Given the description of an element on the screen output the (x, y) to click on. 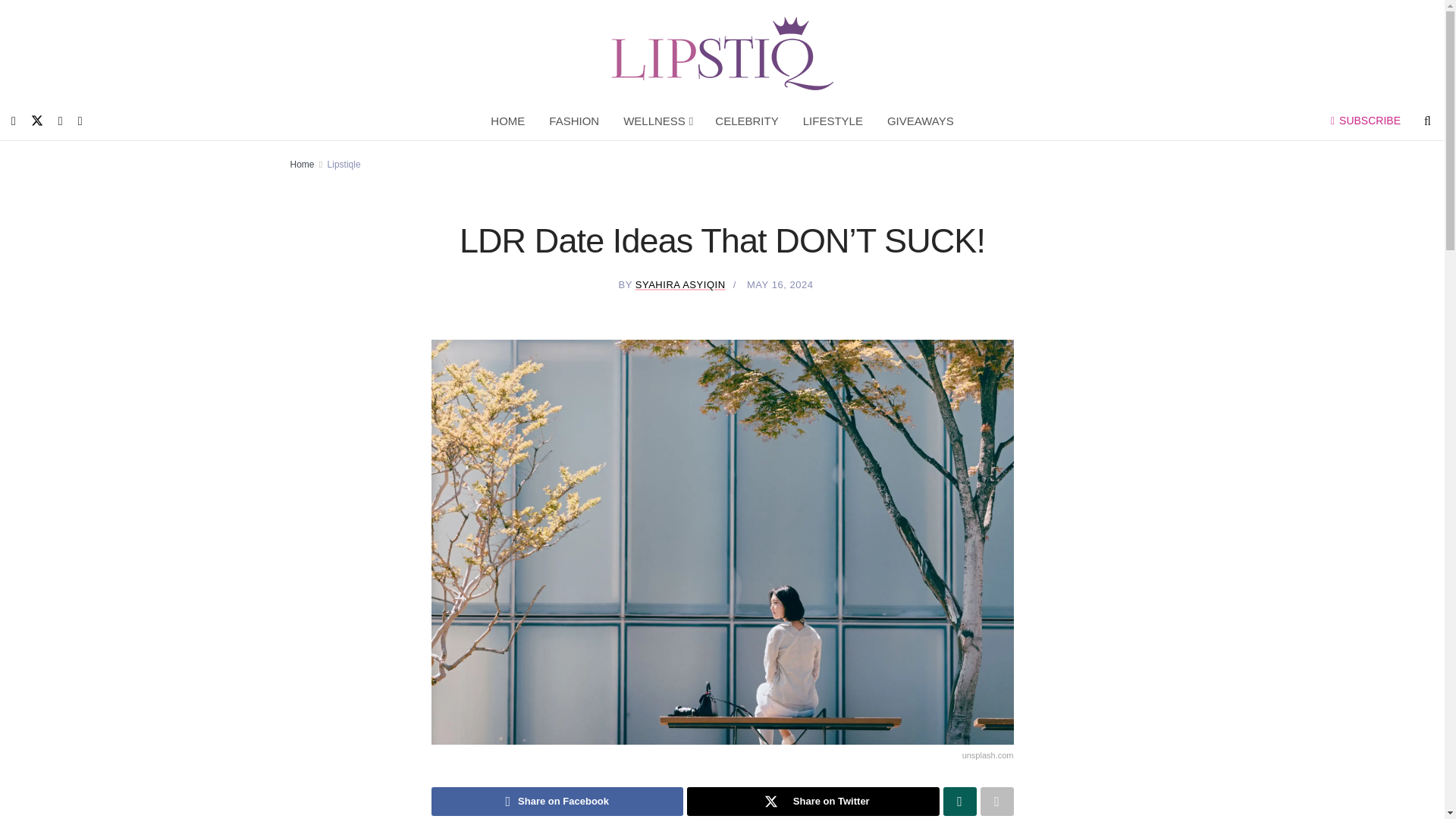
HOME (508, 121)
CELEBRITY (746, 121)
FASHION (574, 121)
Lipstiqle (344, 163)
MAY 16, 2024 (779, 284)
Home (301, 163)
Share on Facebook (556, 801)
SYAHIRA ASYIQIN (679, 284)
WELLNESS (657, 121)
GIVEAWAYS (920, 121)
